Given the description of an element on the screen output the (x, y) to click on. 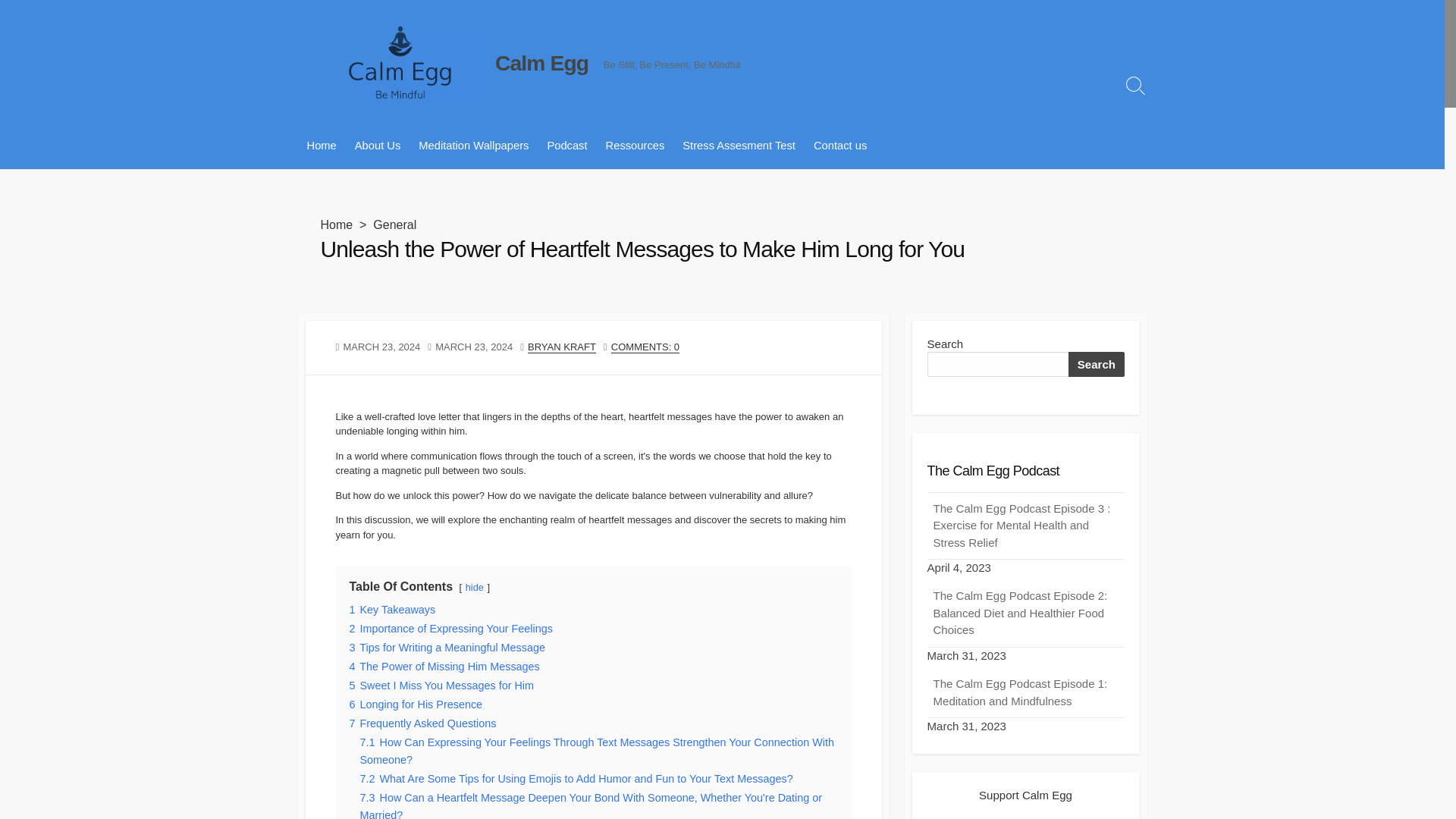
Home (321, 145)
3 Tips for Writing a Meaningful Message (446, 647)
Meditation Wallpapers (473, 145)
7 Frequently Asked Questions (422, 723)
hide (474, 586)
1 Key Takeaways (392, 609)
COMMENTS: 0 (645, 346)
2 Importance of Expressing Your Feelings (450, 628)
Contact us (840, 145)
Calm Egg (541, 63)
Ressources (635, 145)
Posts by Bryan Kraft (561, 346)
5 Sweet I Miss You Messages for Him (441, 685)
